Given the description of an element on the screen output the (x, y) to click on. 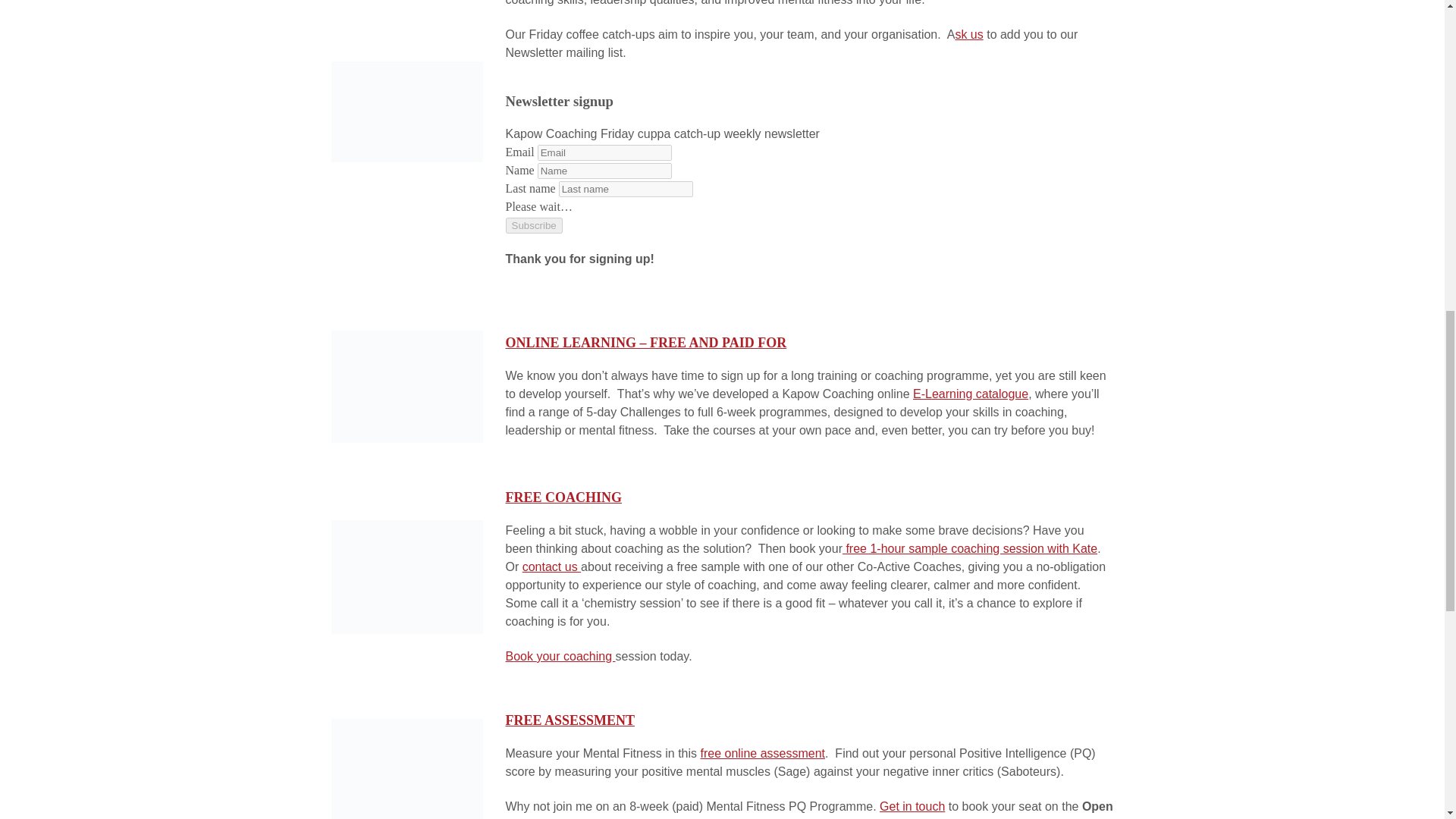
FREE ASSESSMENT (569, 720)
FREE COACHING (563, 497)
E-Learning catalogue (969, 393)
Read more about Newsletter (405, 110)
 free 1-hour sample coaching session with Kate (970, 548)
Get in touch (911, 806)
Read more about Free Coaching (405, 574)
free online assessment (762, 753)
contact us  (551, 566)
